Given the description of an element on the screen output the (x, y) to click on. 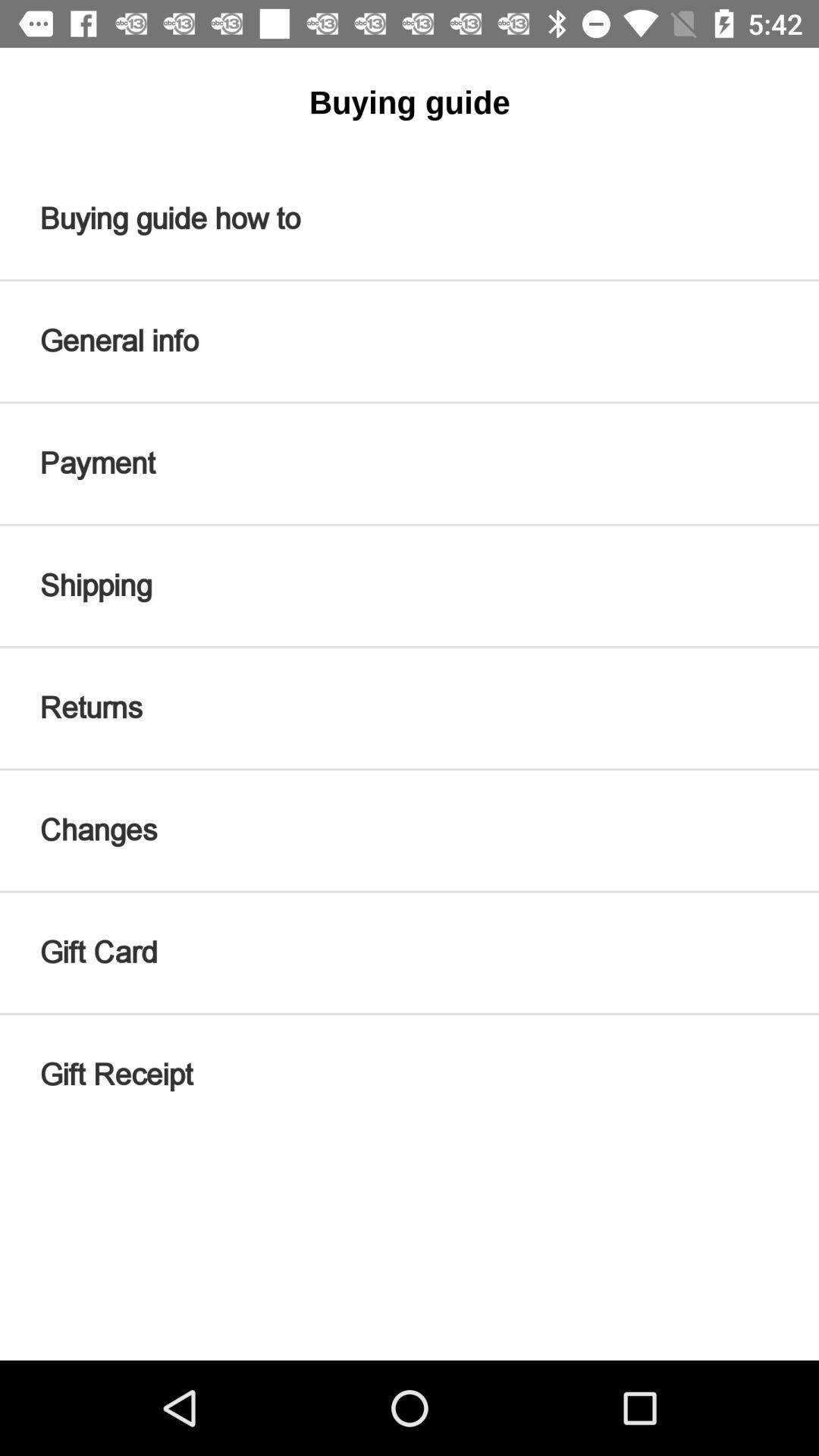
swipe to the returns (409, 708)
